Given the description of an element on the screen output the (x, y) to click on. 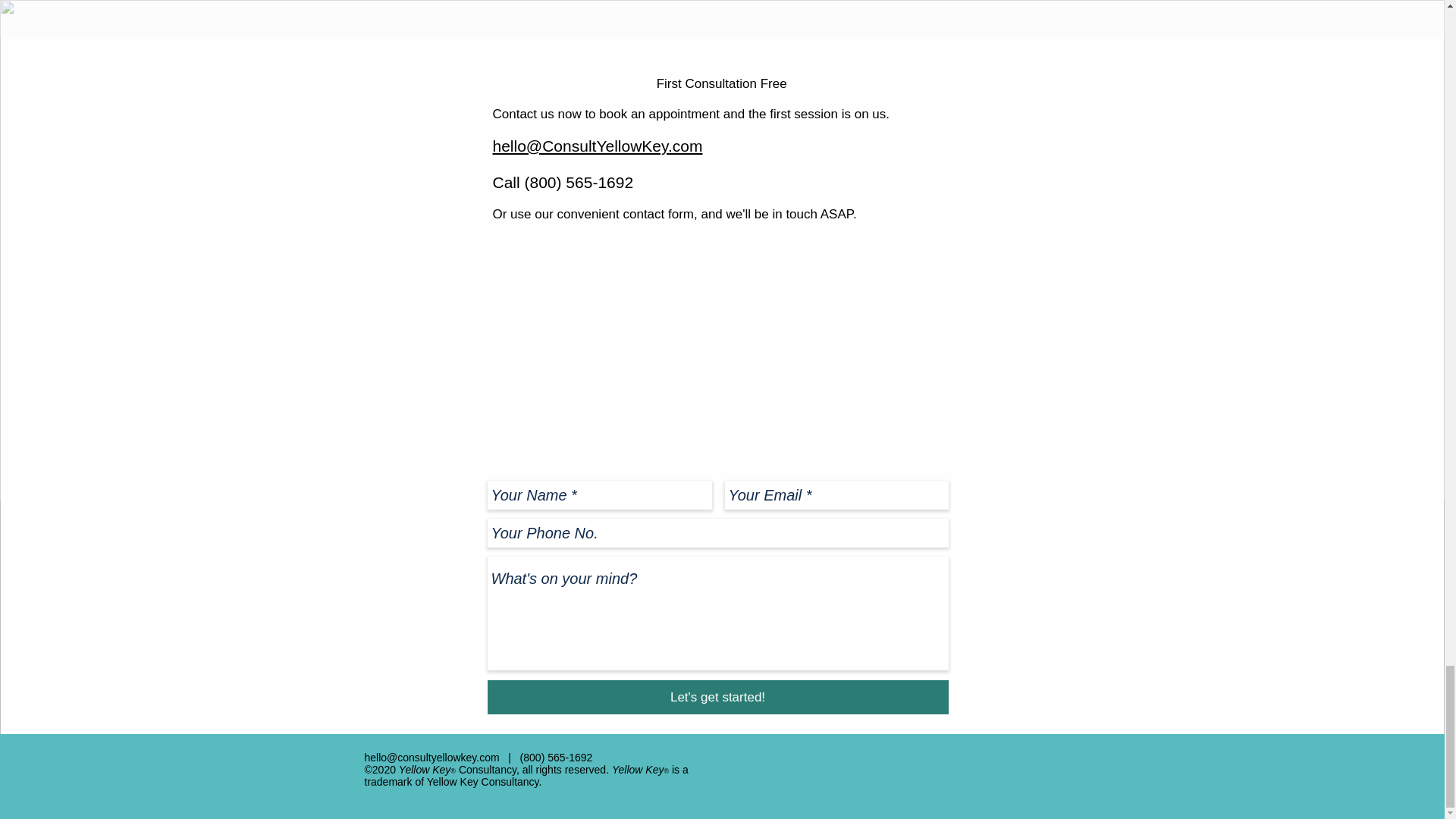
Let's get started! (716, 697)
